Given the description of an element on the screen output the (x, y) to click on. 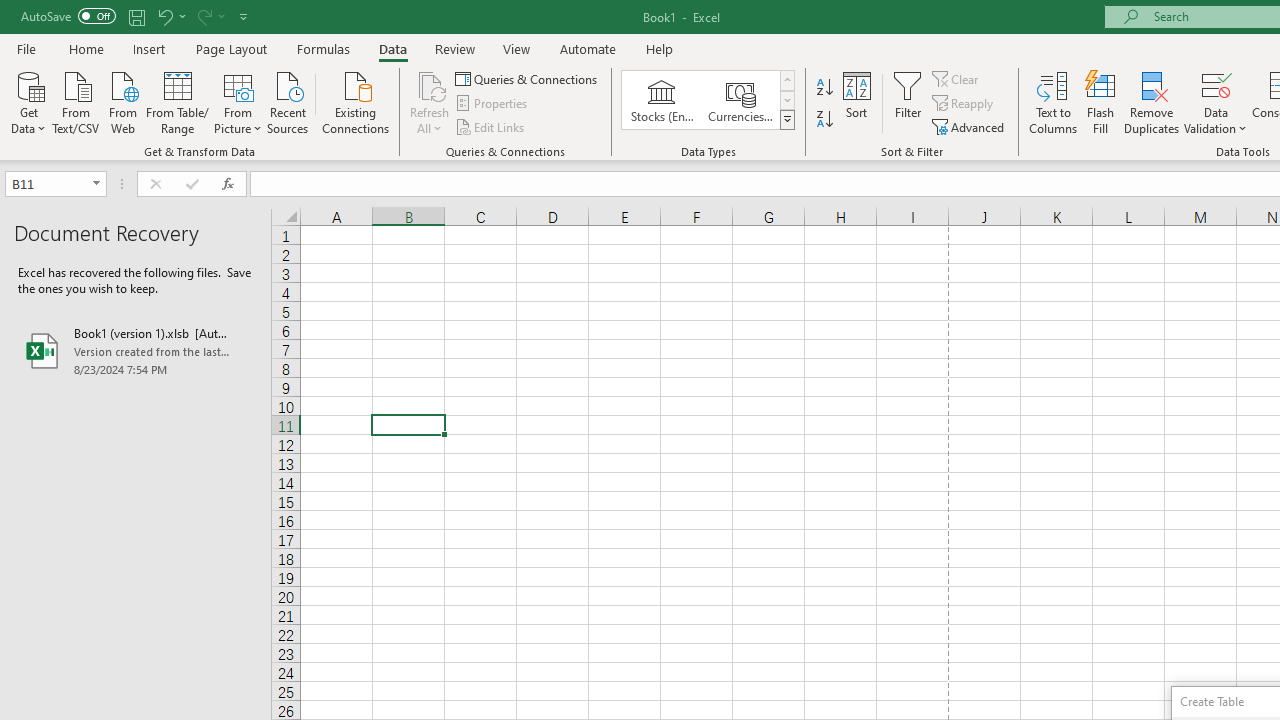
From Picture (238, 101)
Page Layout (230, 48)
Refresh All (429, 102)
Queries & Connections (527, 78)
Recent Sources (287, 101)
Sort Z to A (824, 119)
Filter (908, 102)
System (10, 11)
Name Box (56, 183)
AutomationID: ConvertToLinkedEntity (708, 99)
Open (96, 183)
Data (392, 48)
Data Types (786, 120)
Book1 (version 1).xlsb  [AutoRecovered] (136, 350)
